Given the description of an element on the screen output the (x, y) to click on. 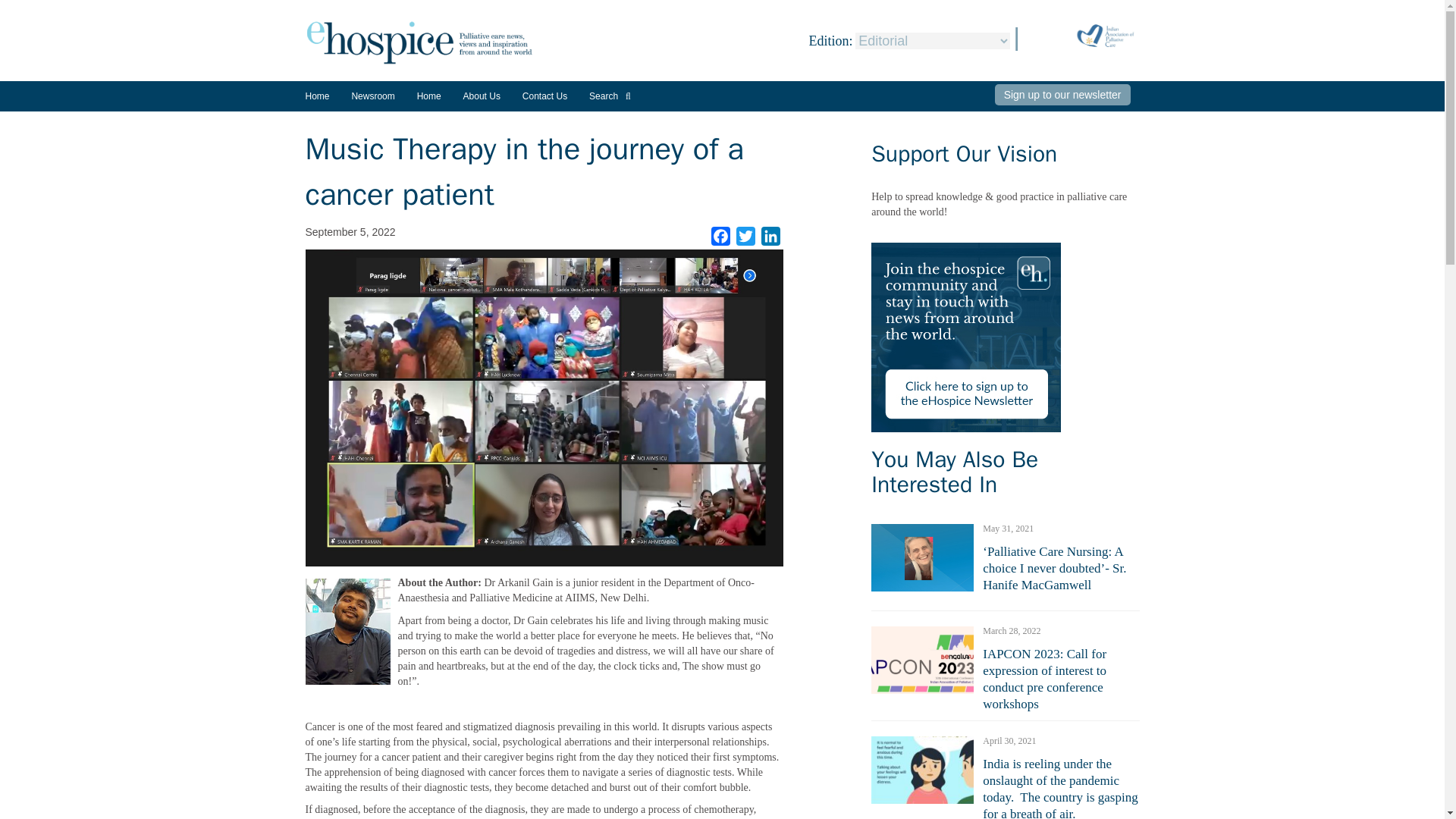
About Us (481, 95)
LinkedIn (770, 237)
Sign up to our newsletter (1062, 94)
Home (428, 95)
Search (609, 95)
Twitter (745, 237)
Home (316, 95)
Facebook (720, 237)
Newsroom (372, 101)
Contact Us (544, 95)
